Given the description of an element on the screen output the (x, y) to click on. 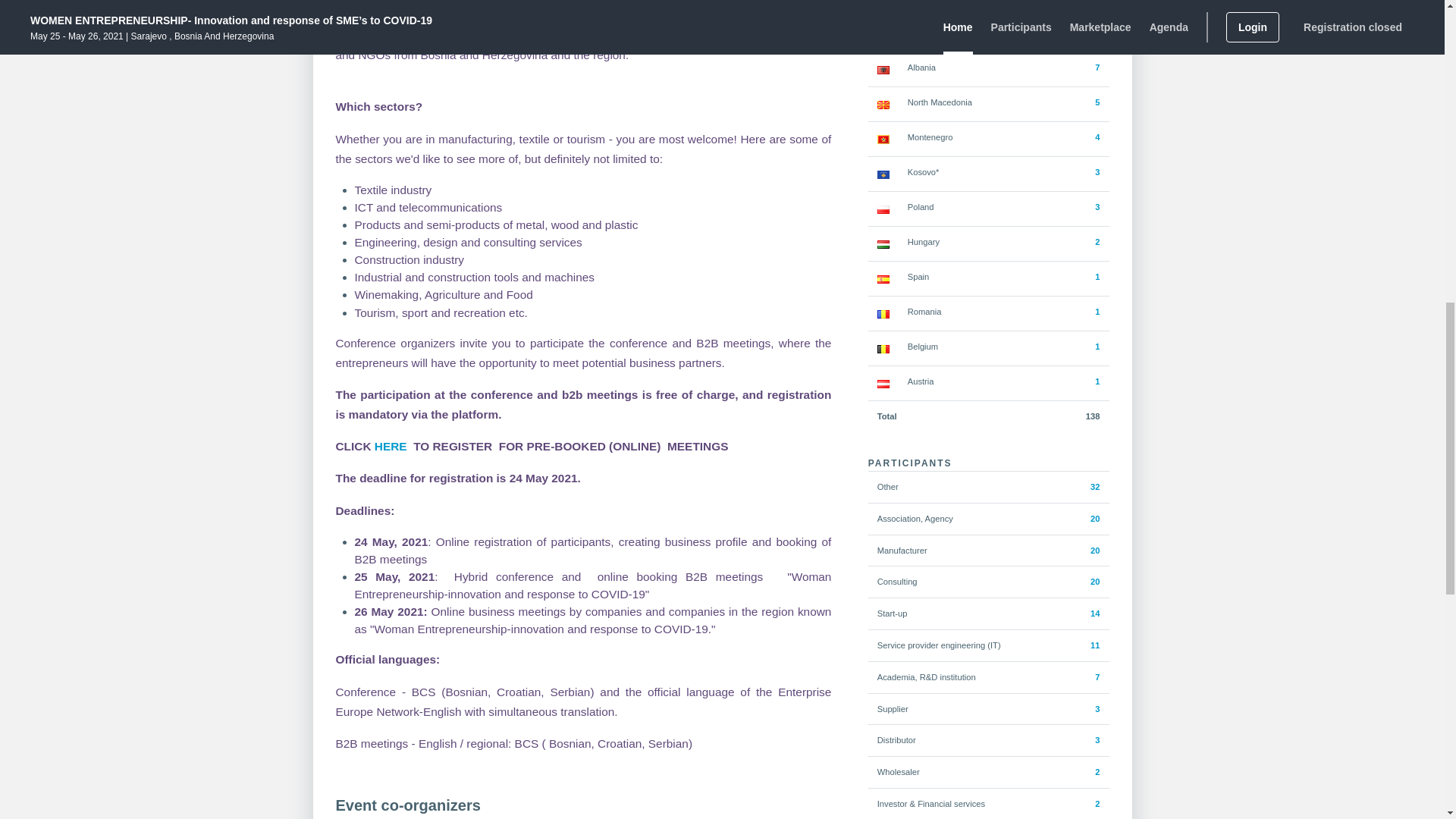
13 (1094, 31)
20 (1094, 550)
20 (1094, 518)
14 (1094, 613)
11 (1094, 645)
32 (1094, 486)
20 (1094, 581)
HERE (389, 445)
